Given the description of an element on the screen output the (x, y) to click on. 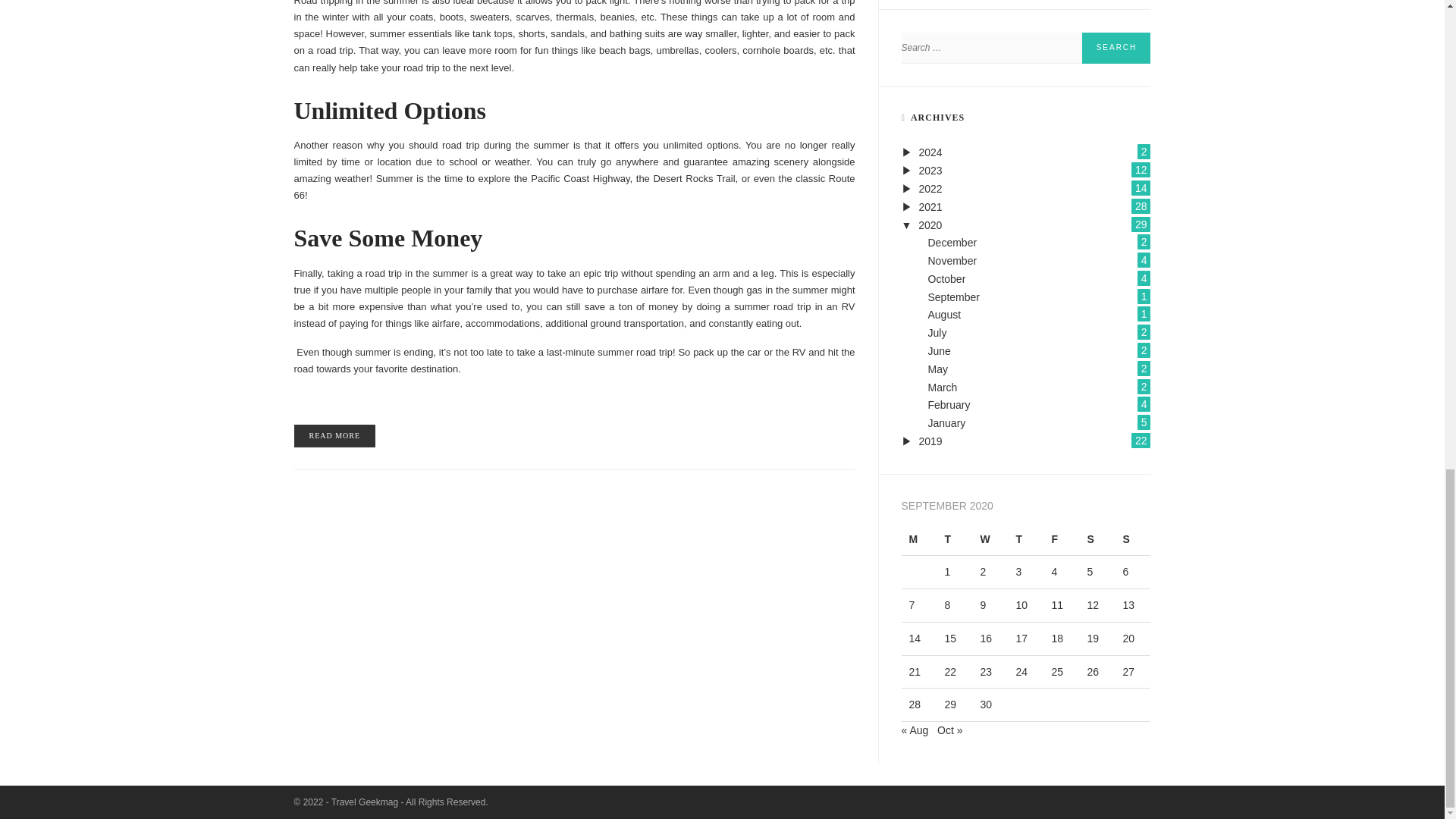
Why You Should Road Trip in the Summer (334, 436)
READ MORE (334, 436)
Search (1115, 47)
Search (1115, 47)
